Given the description of an element on the screen output the (x, y) to click on. 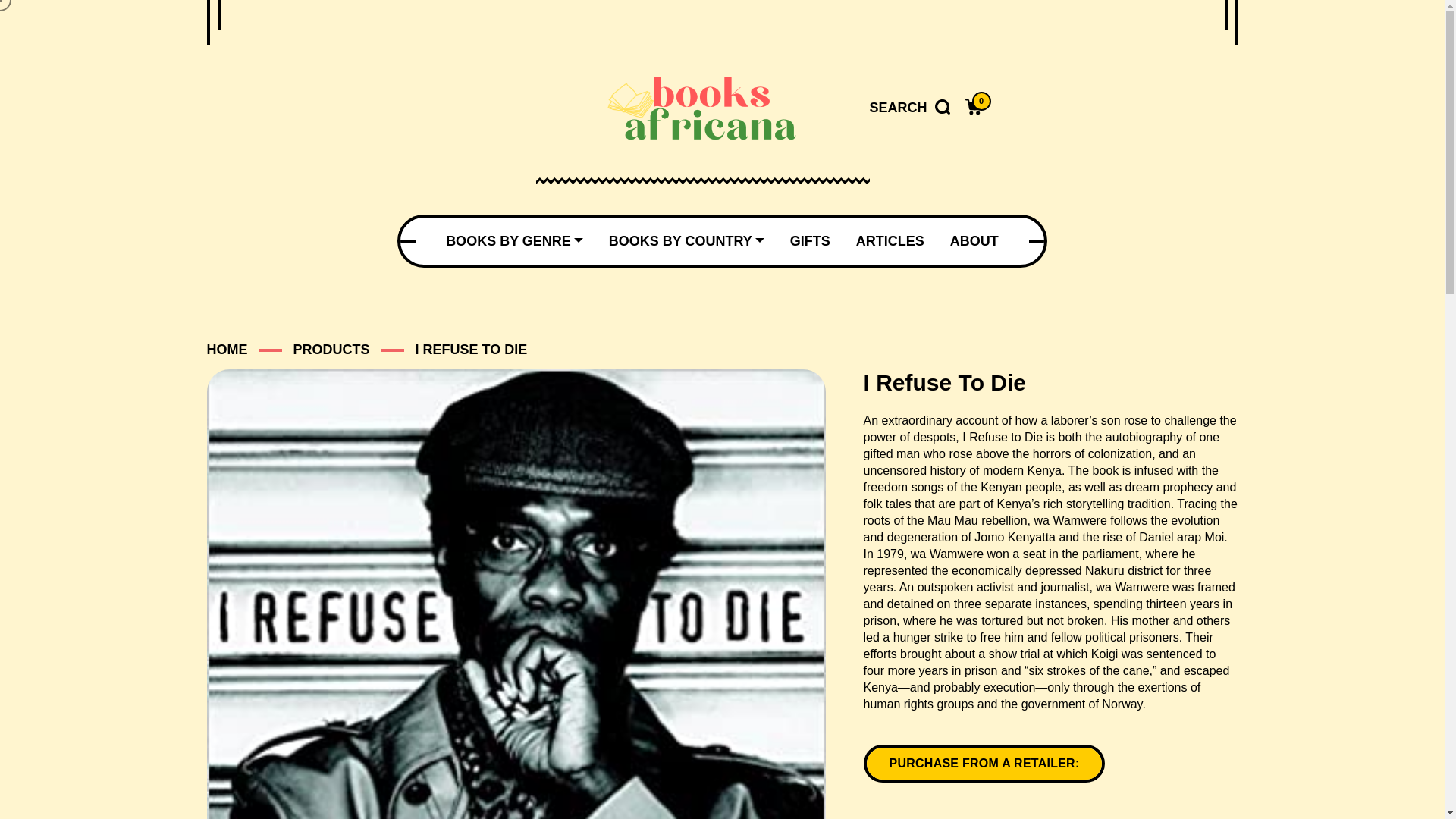
Products (330, 349)
SEARCH (909, 107)
BOOKS BY GENRE (514, 240)
0 (974, 107)
Home (226, 349)
